Given the description of an element on the screen output the (x, y) to click on. 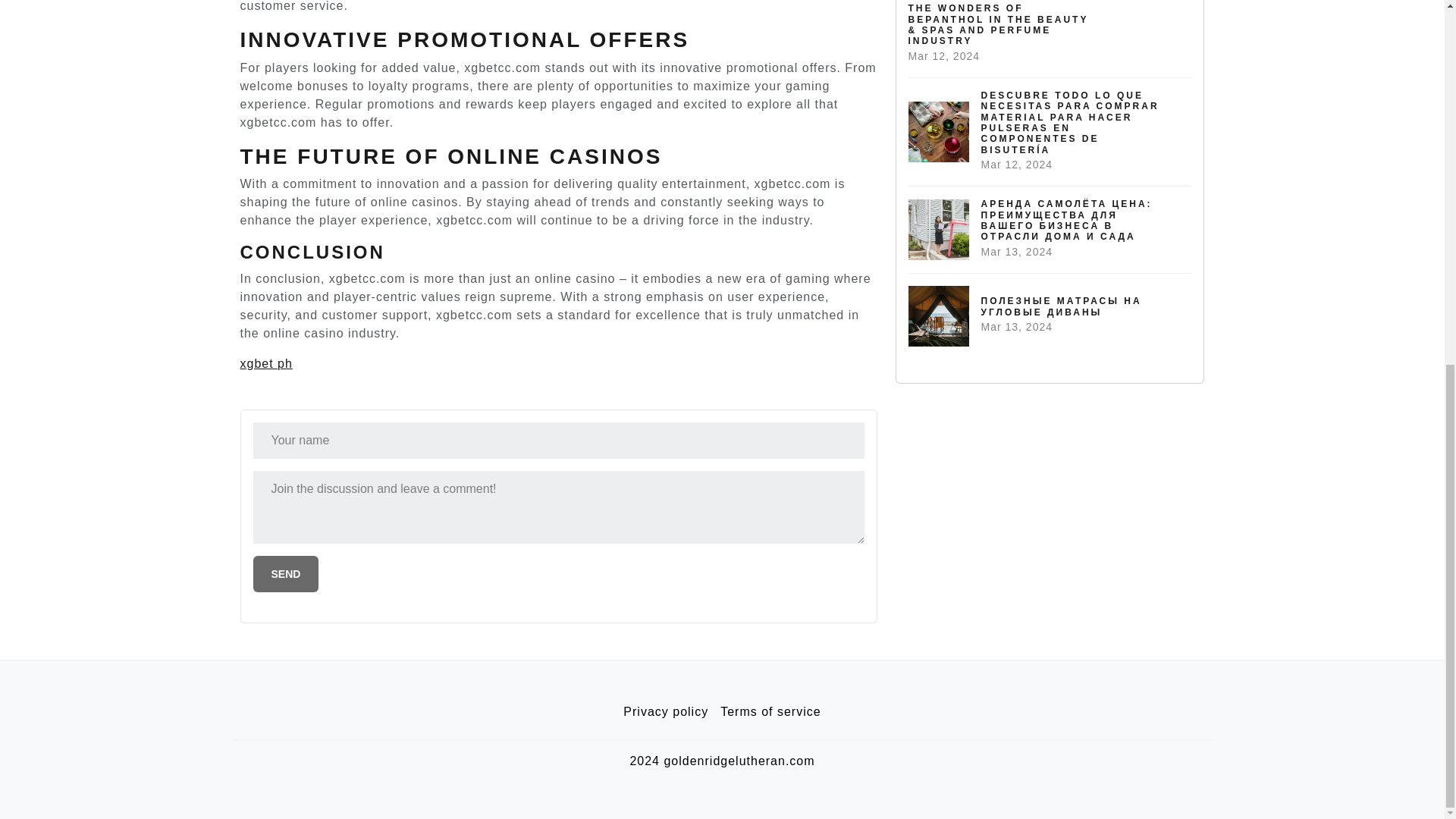
Send (285, 574)
Terms of service (770, 711)
Send (285, 574)
Privacy policy (665, 711)
xgbet ph (266, 363)
